Given the description of an element on the screen output the (x, y) to click on. 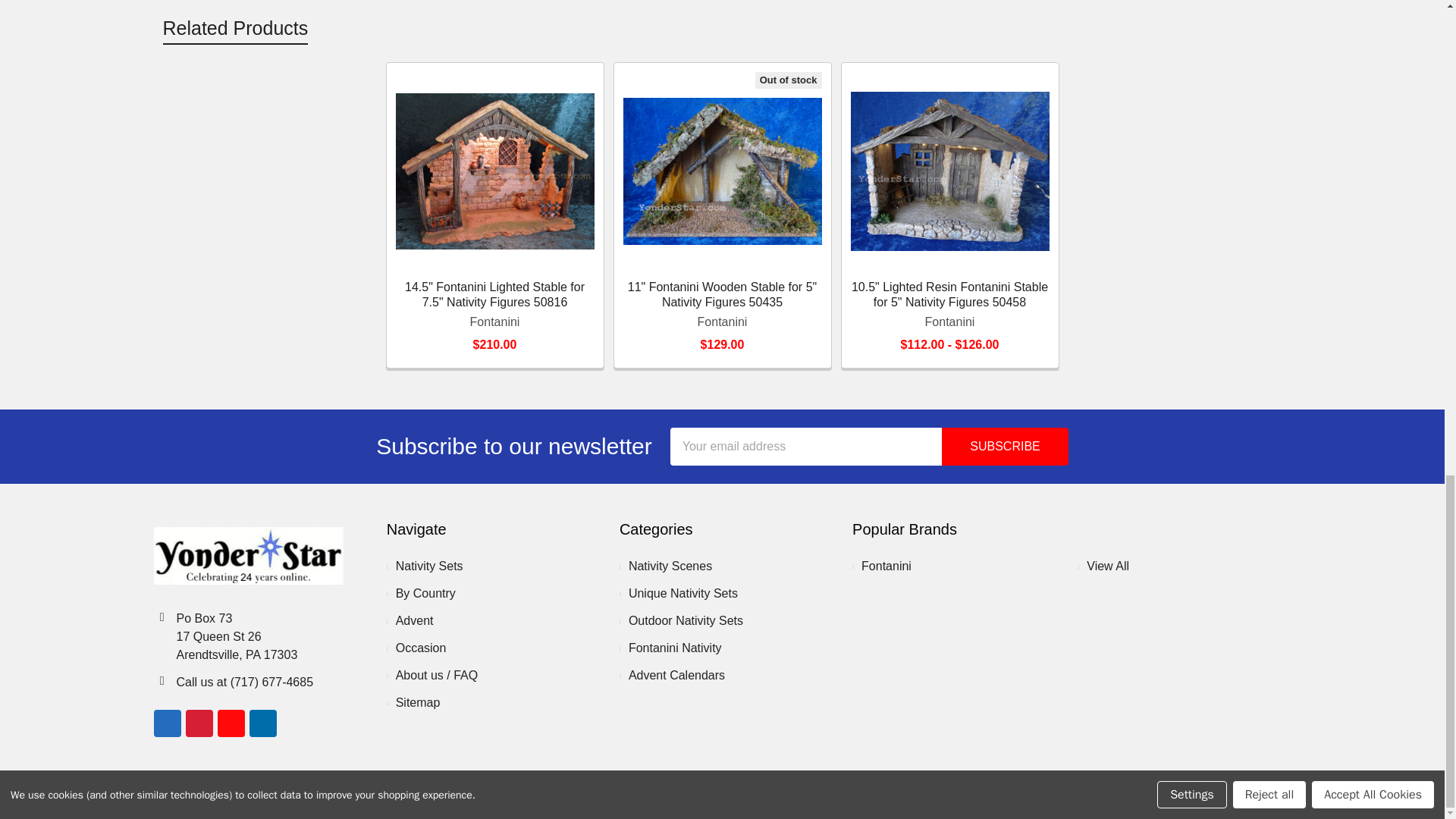
Fontanini nativity stable lighted (949, 170)
Subscribe (1004, 446)
Fontanini nativity stable lighted (495, 171)
Fontanini nativity stable (722, 170)
Yonder Star Christmas Shop LLC (247, 555)
